Given the description of an element on the screen output the (x, y) to click on. 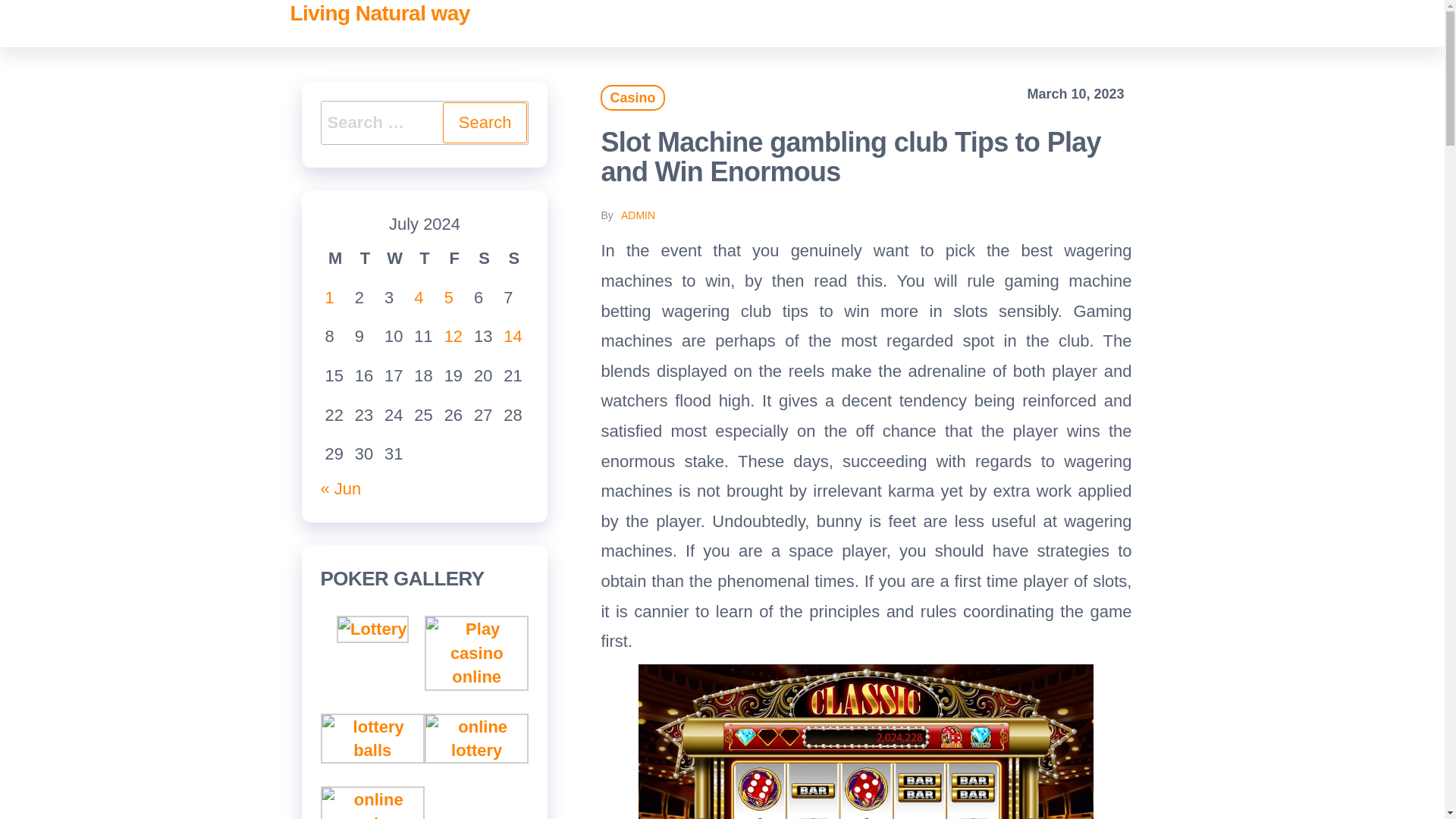
14 (512, 335)
Friday (453, 258)
12 (453, 335)
1 (328, 297)
Living Natural way (378, 13)
Tuesday (365, 258)
Search (484, 122)
Saturday (483, 258)
Wednesday (394, 258)
Search (484, 122)
Monday (334, 258)
ADMIN (638, 215)
Casino (631, 97)
4 (418, 297)
Sunday (513, 258)
